Given the description of an element on the screen output the (x, y) to click on. 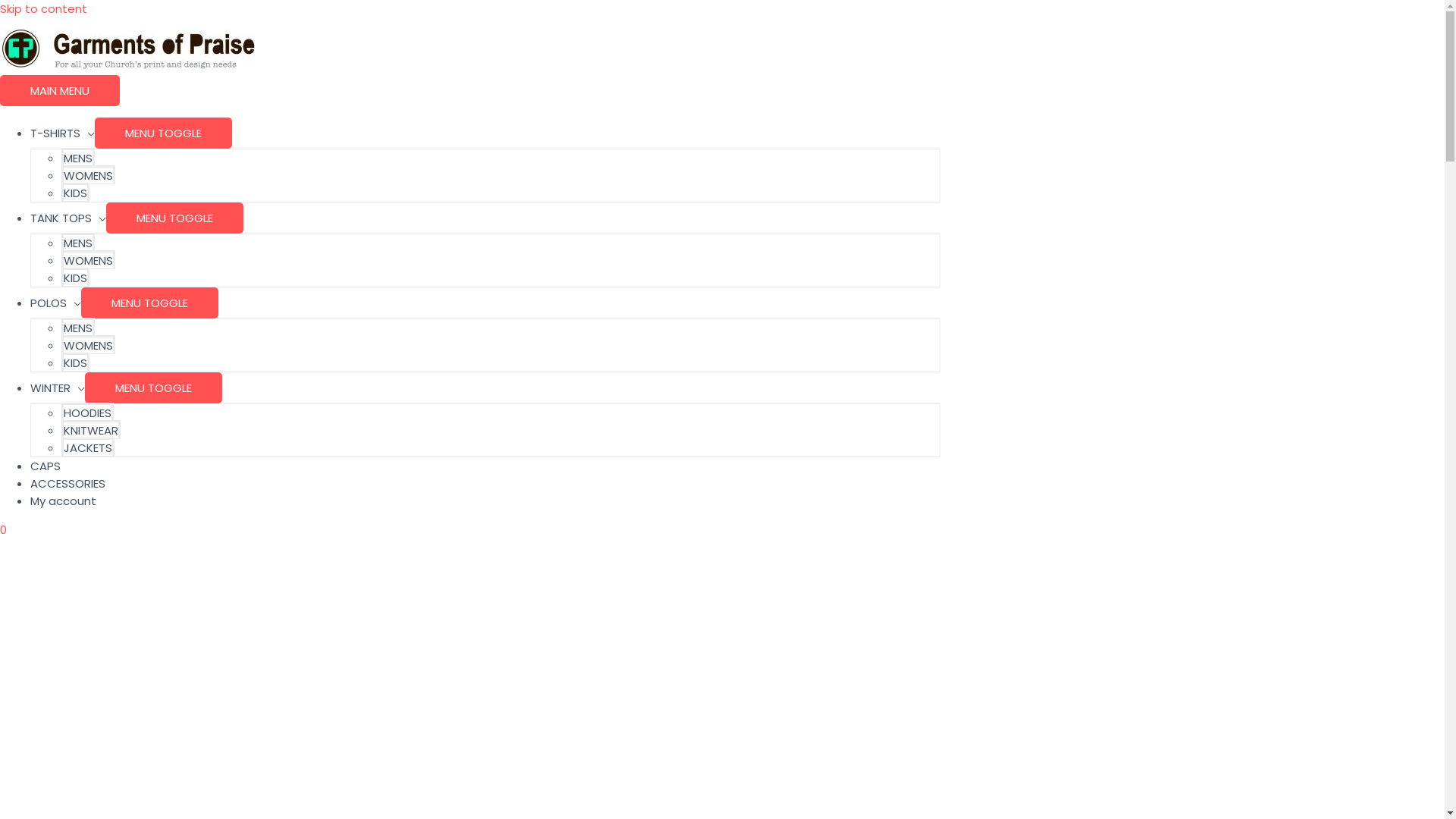
MENU TOGGLE Element type: text (163, 132)
KIDS Element type: text (75, 276)
ACCESSORIES Element type: text (67, 483)
WOMENS Element type: text (88, 174)
WOMENS Element type: text (88, 259)
HOODIES Element type: text (87, 411)
TANK TOPS Element type: text (68, 217)
POLOS Element type: text (55, 302)
WINTER Element type: text (57, 387)
MENU TOGGLE Element type: text (149, 302)
WOMENS Element type: text (88, 344)
MENU TOGGLE Element type: text (153, 387)
MENS Element type: text (77, 326)
MENU TOGGLE Element type: text (174, 217)
KNITWEAR Element type: text (90, 429)
My account Element type: text (63, 500)
MAIN MENU Element type: text (59, 90)
JACKETS Element type: text (87, 446)
KIDS Element type: text (75, 191)
0 Element type: text (470, 529)
MENS Element type: text (77, 241)
CAPS Element type: text (45, 465)
T-SHIRTS Element type: text (62, 133)
Skip to content Element type: text (43, 8)
KIDS Element type: text (75, 361)
MENS Element type: text (77, 156)
